Given the description of an element on the screen output the (x, y) to click on. 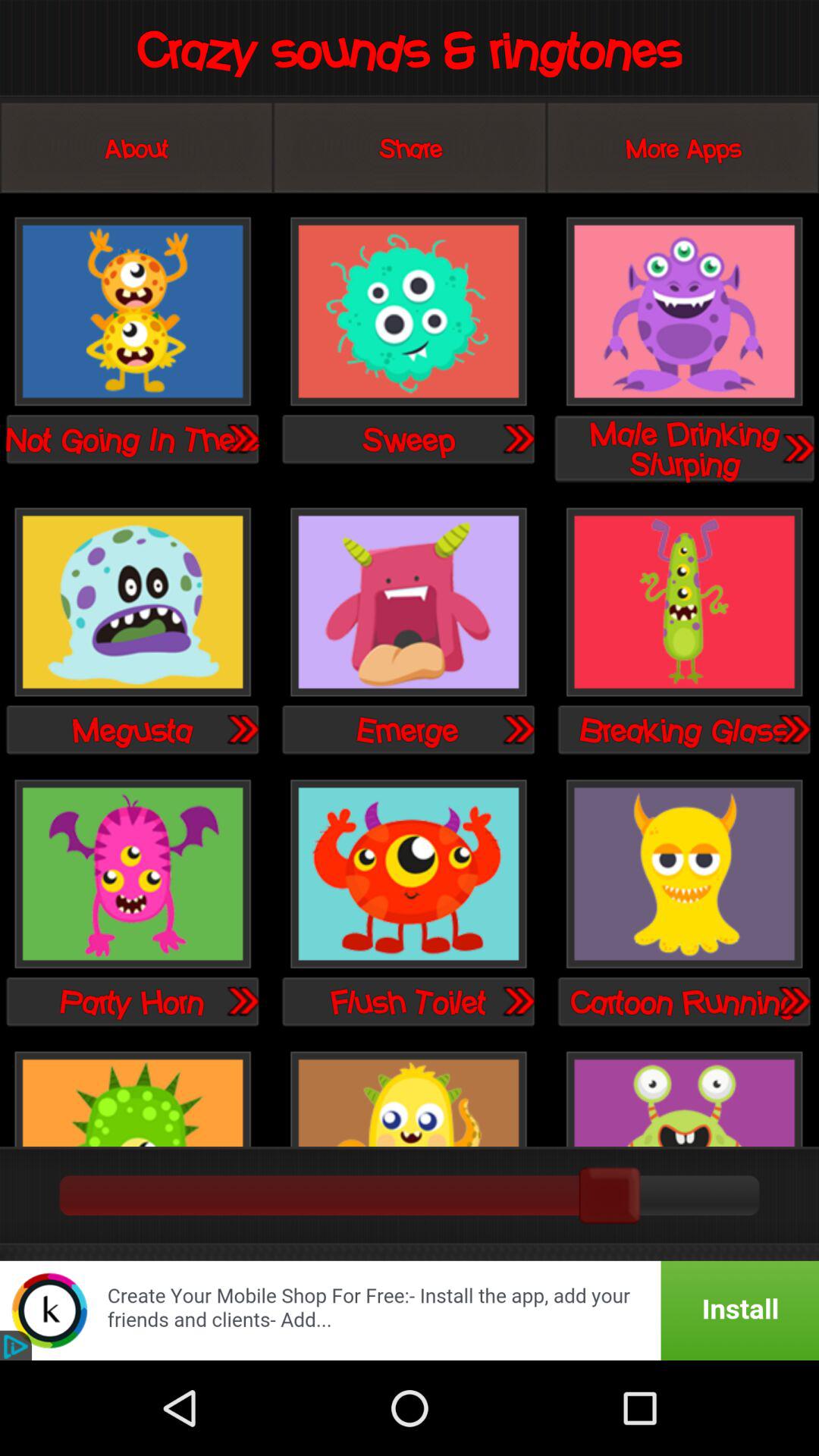
go next (242, 728)
